Given the description of an element on the screen output the (x, y) to click on. 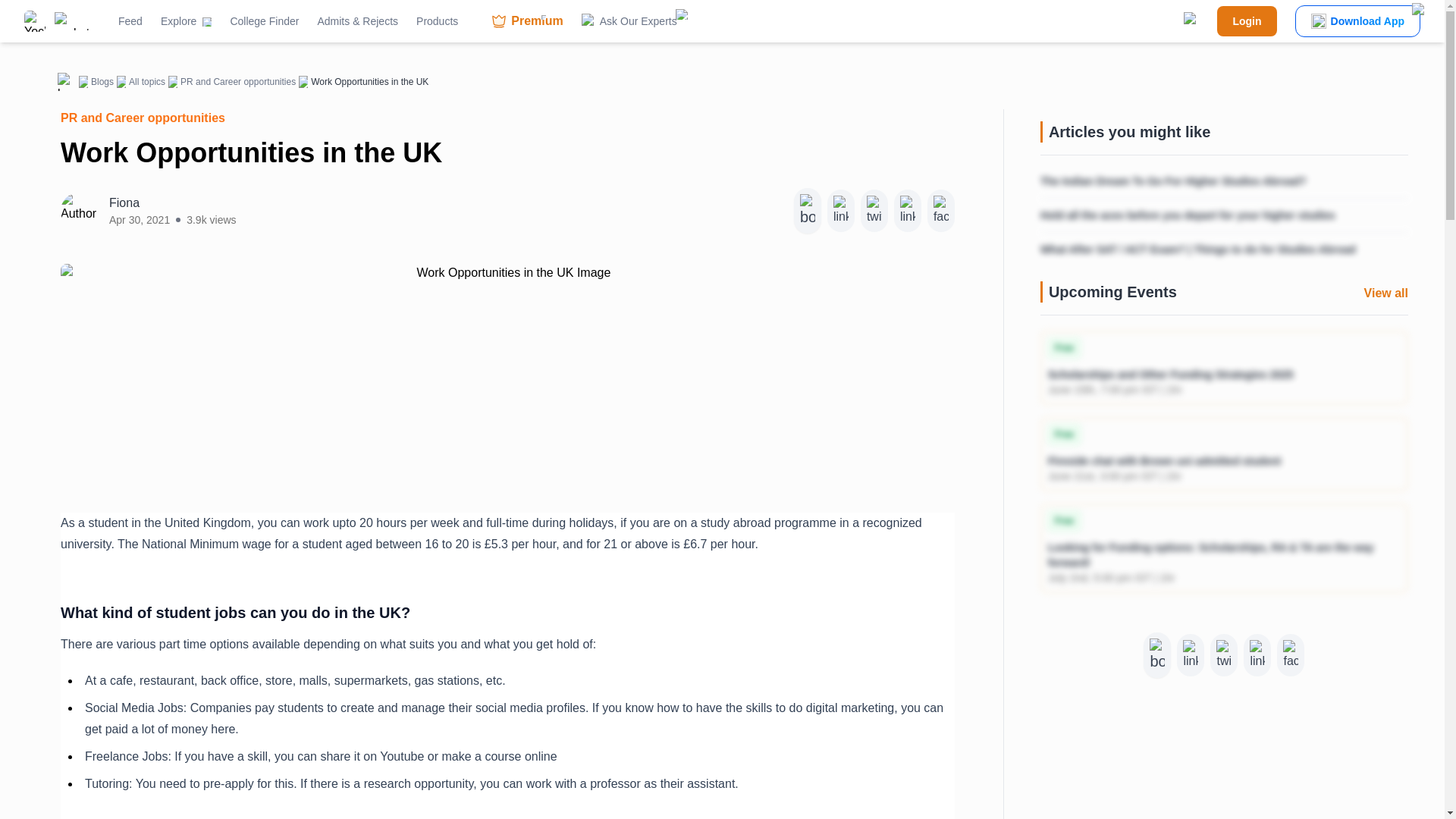
Login (1246, 20)
Products (444, 21)
Yocket Logo (34, 20)
Explore (185, 21)
Download App (1358, 20)
Fiona (172, 203)
College Finder (264, 21)
View all (1385, 292)
All topics (147, 81)
PR and Career opportunities (237, 81)
